Given the description of an element on the screen output the (x, y) to click on. 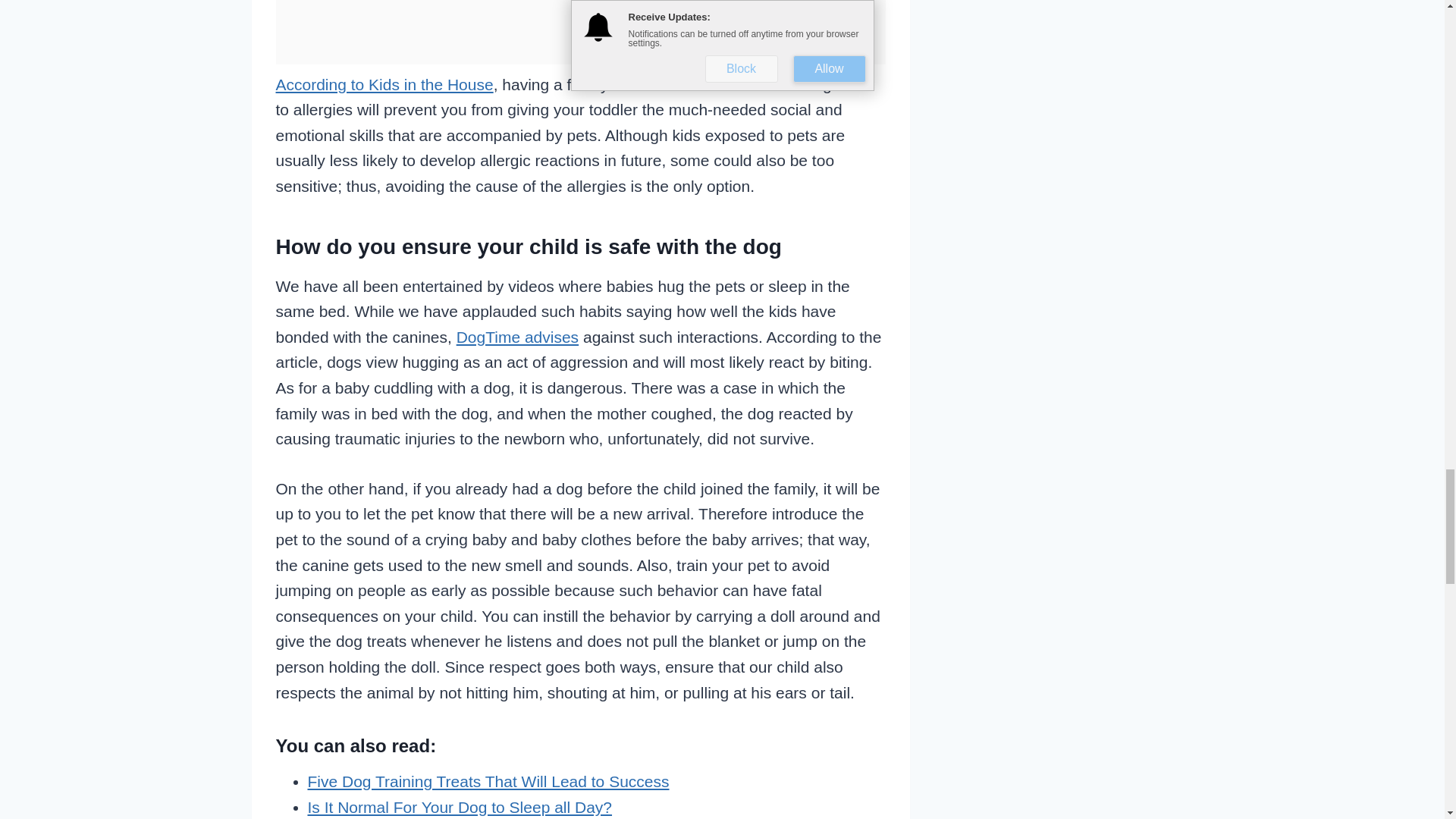
DogTime advises (517, 336)
Is It Normal For Your Dog to Sleep all Day? (459, 806)
Five Dog Training Treats That Will Lead to Success (488, 781)
According to Kids in the House (384, 84)
